Given the description of an element on the screen output the (x, y) to click on. 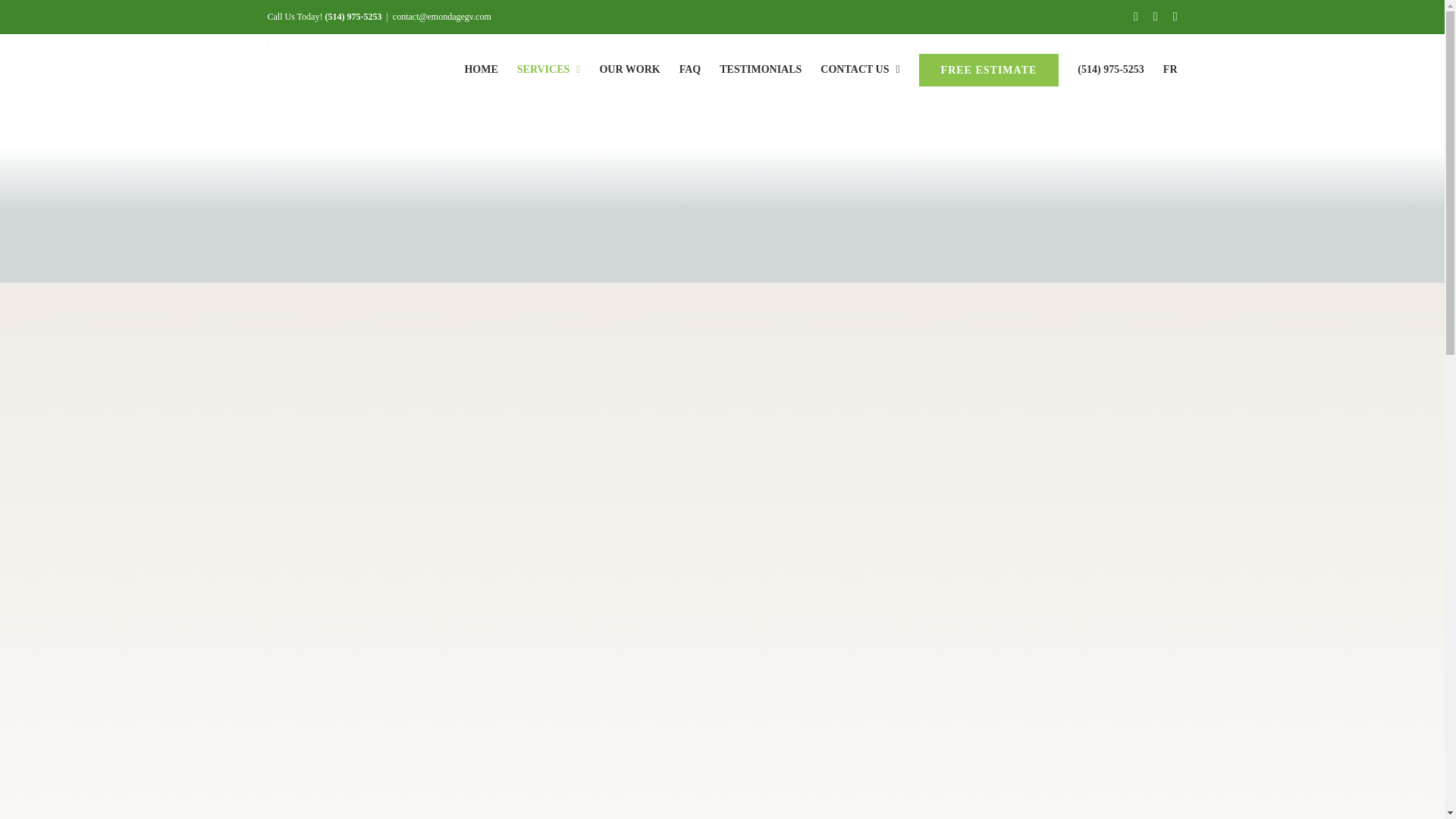
TESTIMONIALS (760, 69)
OUR WORK (628, 69)
FREE ESTIMATE (988, 69)
CONTACT US (860, 69)
SERVICES (548, 69)
